Given the description of an element on the screen output the (x, y) to click on. 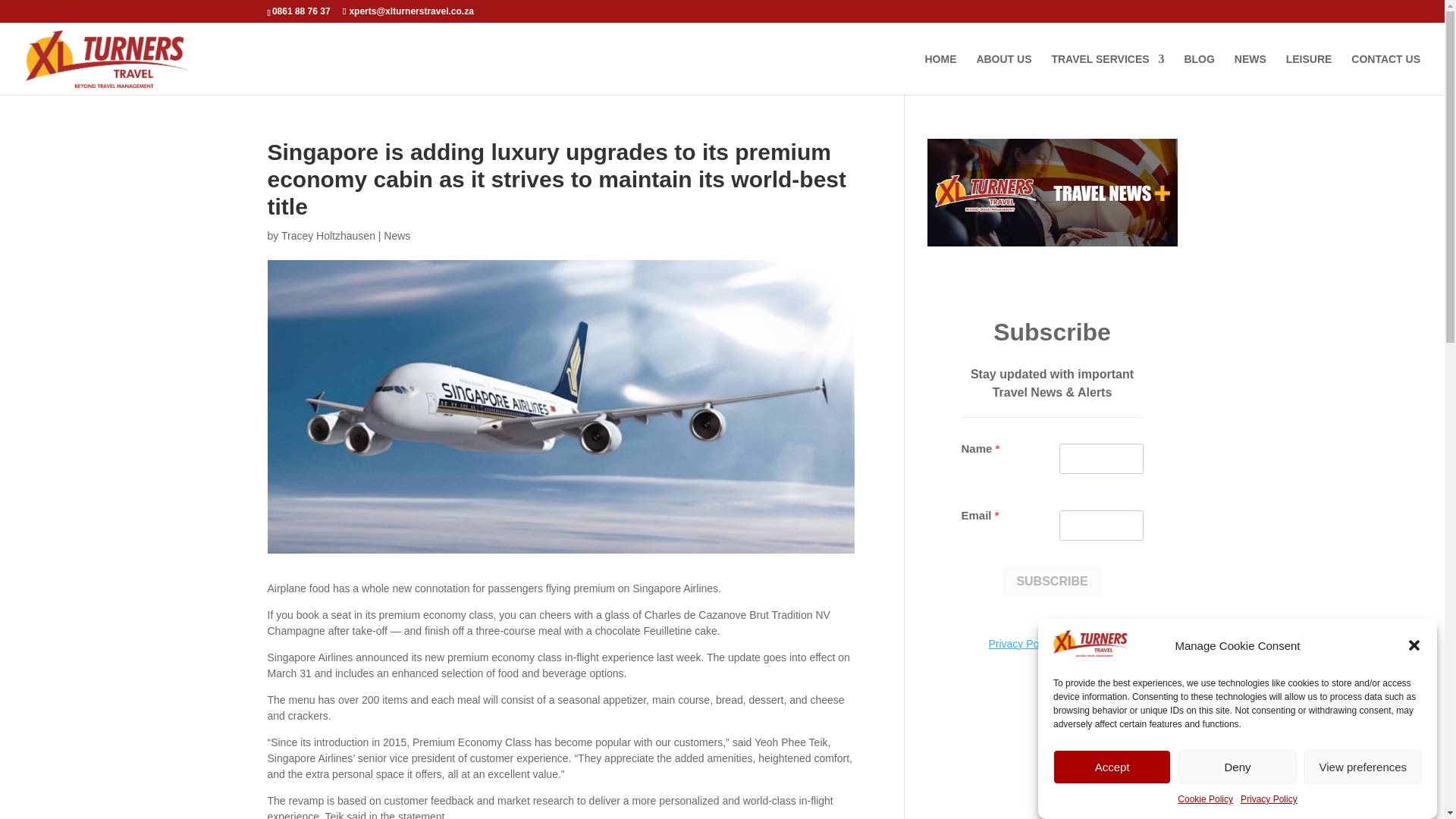
LEISURE (1308, 74)
Posts by Tracey Holtzhausen (328, 235)
CONTACT US (1386, 74)
TRAVEL SERVICES (1107, 74)
ABOUT US (1002, 74)
